Given the description of an element on the screen output the (x, y) to click on. 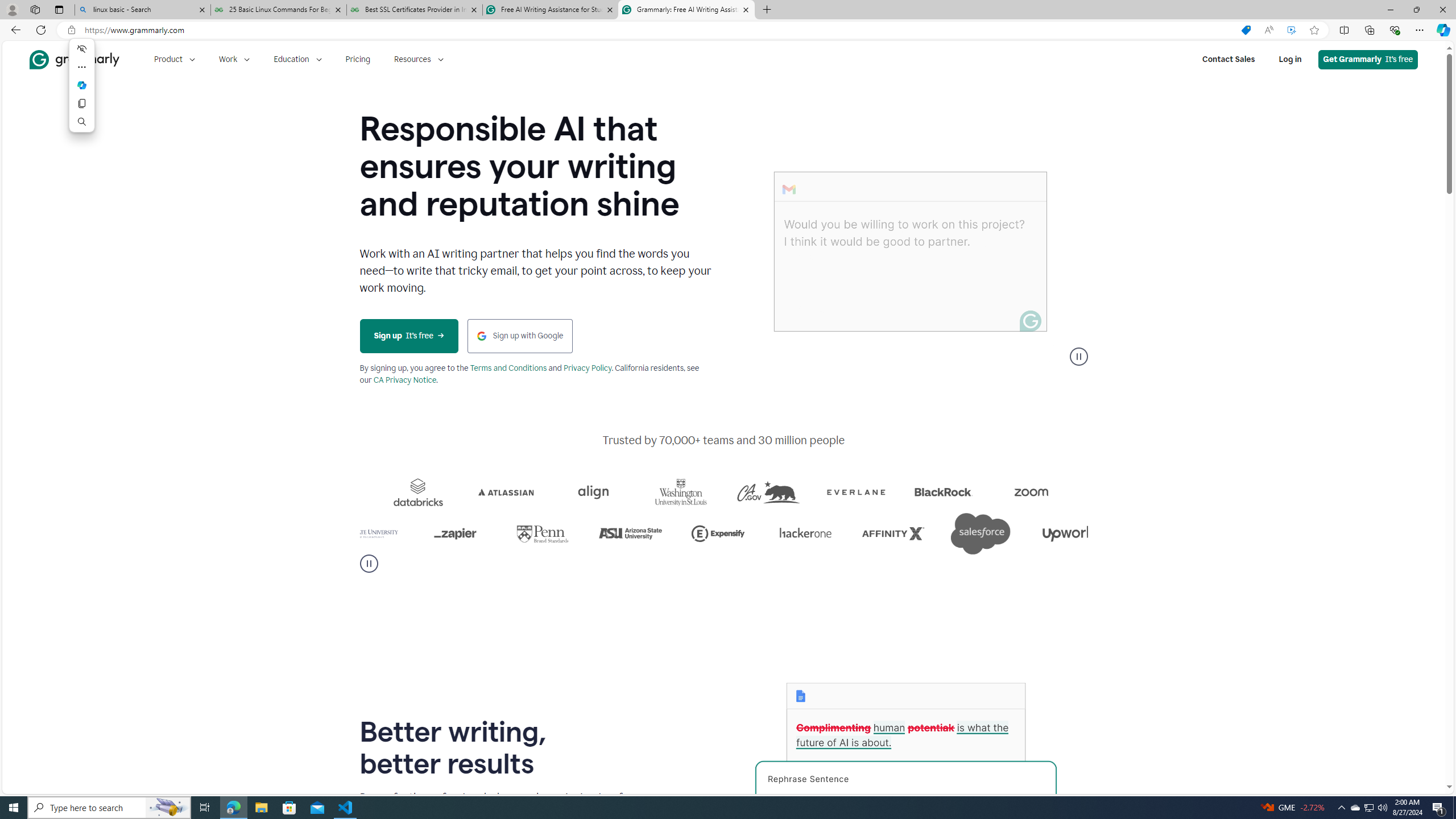
Grammarly Home (74, 59)
Arizona State University (765, 533)
BlackRock (1070, 491)
More actions (81, 67)
Iowa State University (494, 533)
Hide menu (81, 49)
Education (297, 58)
Contact Sales (1228, 58)
Pause (368, 563)
Copy (81, 103)
Privacy Policy (587, 368)
